Given the description of an element on the screen output the (x, y) to click on. 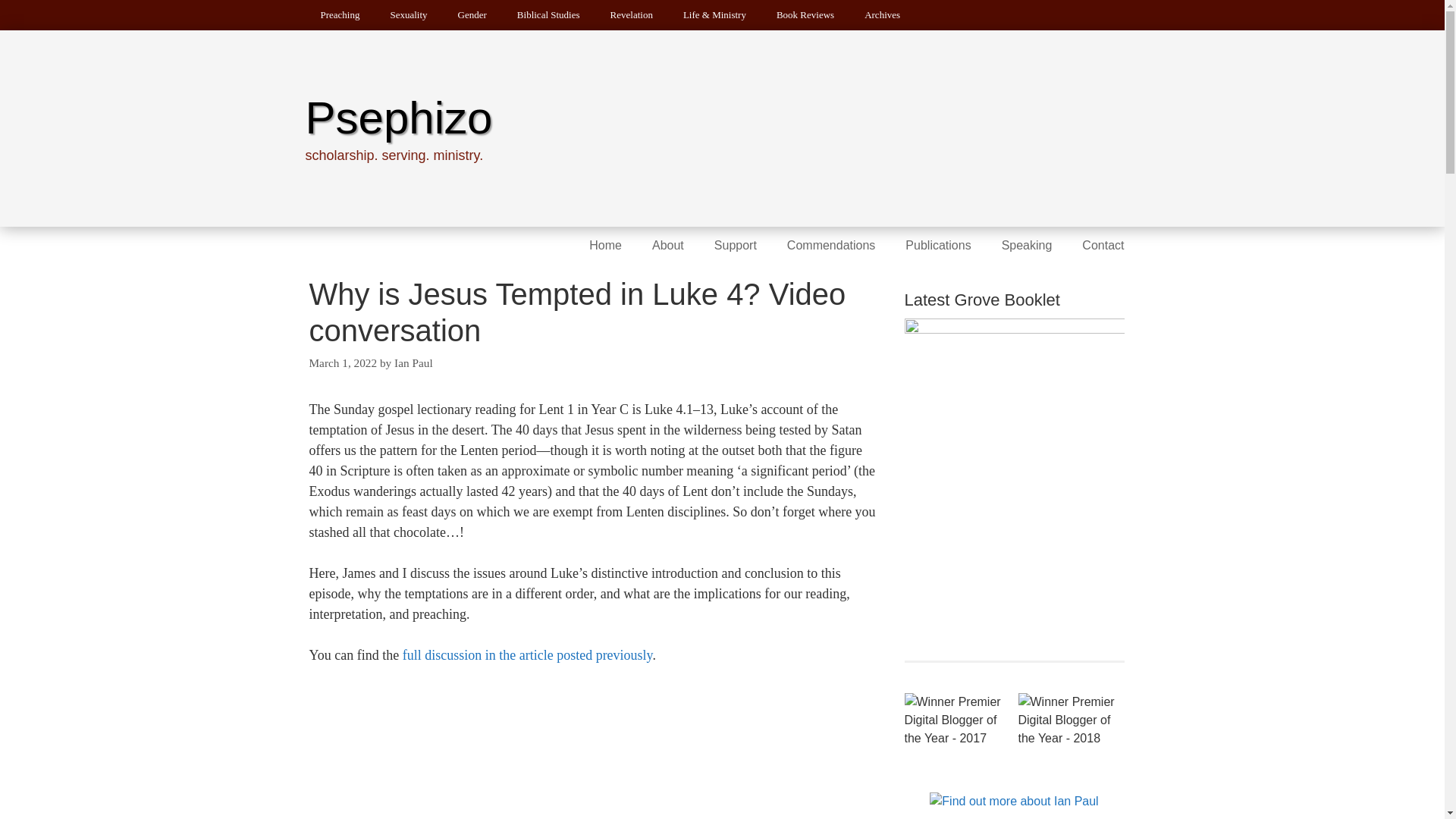
Gender (472, 15)
Contact (1102, 245)
Psephizo (398, 117)
Archives (881, 15)
Support (734, 245)
Commendations (831, 245)
Book Reviews (804, 15)
Biblical Studies (548, 15)
View all posts by Ian Paul (413, 362)
Publications (937, 245)
Speaking (1027, 245)
Why is Jesus Tempted in Luke 4? (527, 654)
Home (605, 245)
full discussion in the article posted previously (527, 654)
